Given the description of an element on the screen output the (x, y) to click on. 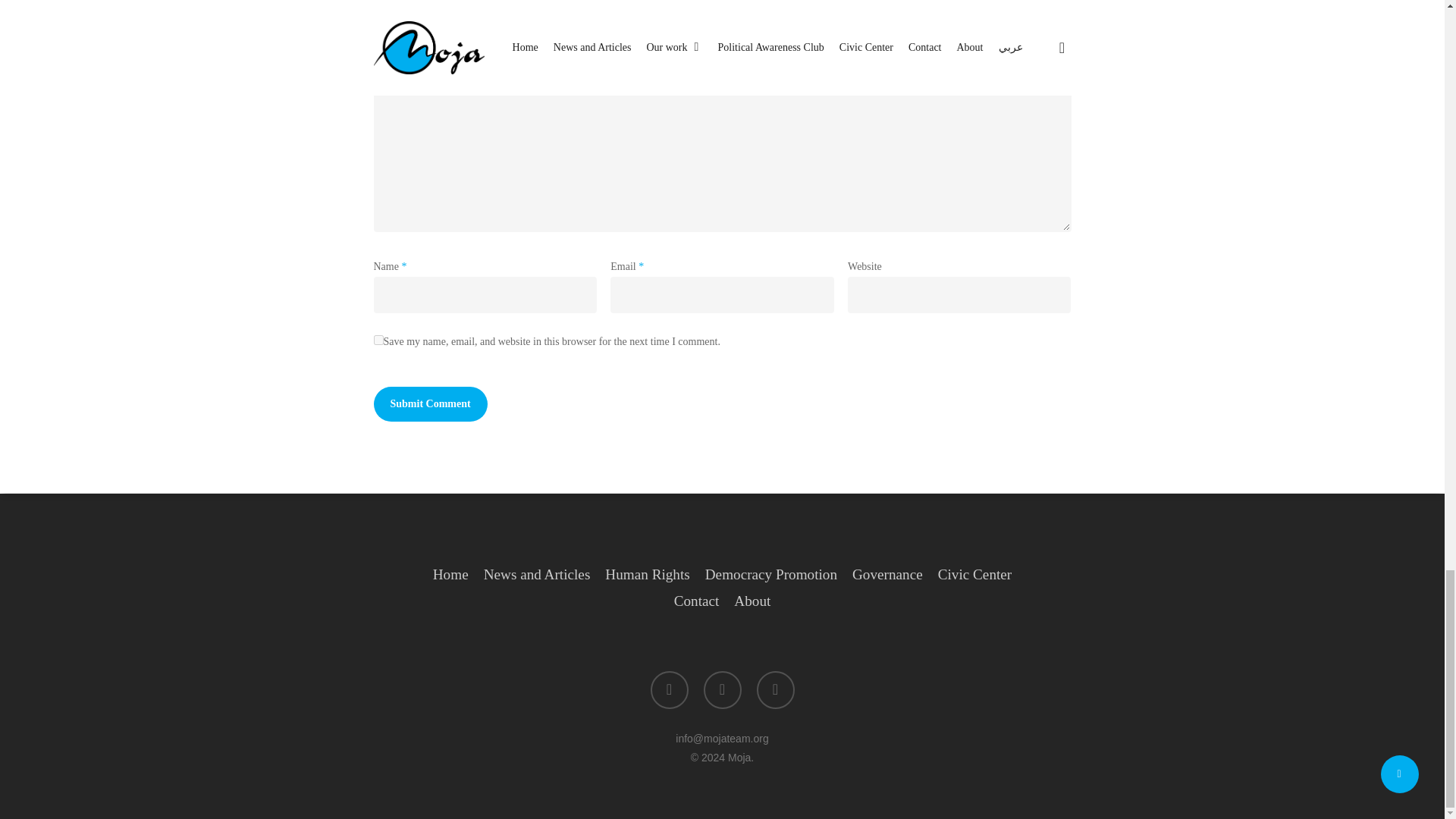
Submit Comment (429, 403)
yes (377, 339)
Submit Comment (429, 403)
